Given the description of an element on the screen output the (x, y) to click on. 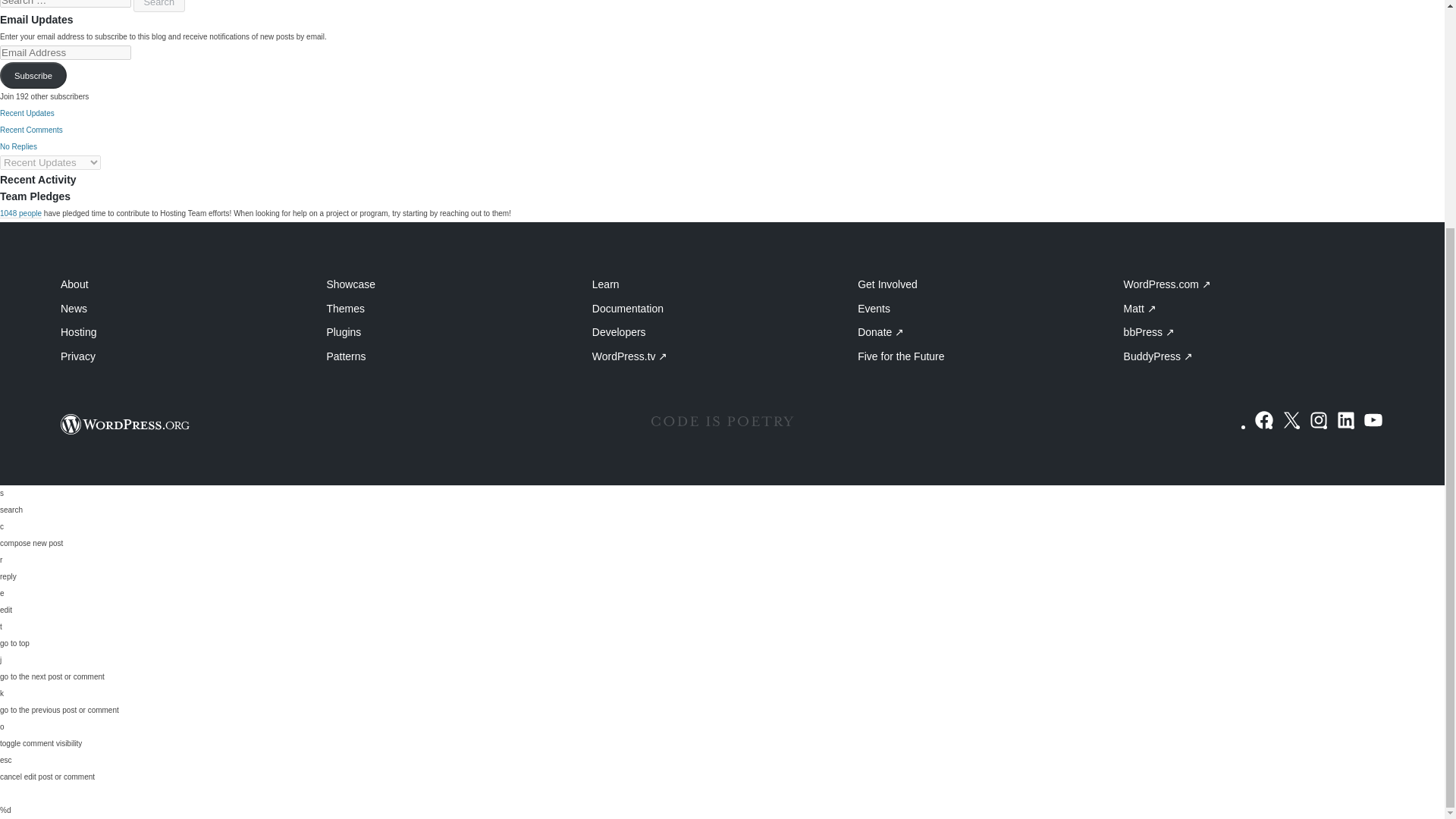
Make WordPress (100, 164)
About WordPress (101, 330)
WordPress.org (125, 424)
Photo Directory (96, 182)
Events (76, 218)
Documentation (95, 15)
Enterprise (84, 349)
Forums (77, 33)
Developers (87, 52)
Learn WordPress (101, 5)
